Given the description of an element on the screen output the (x, y) to click on. 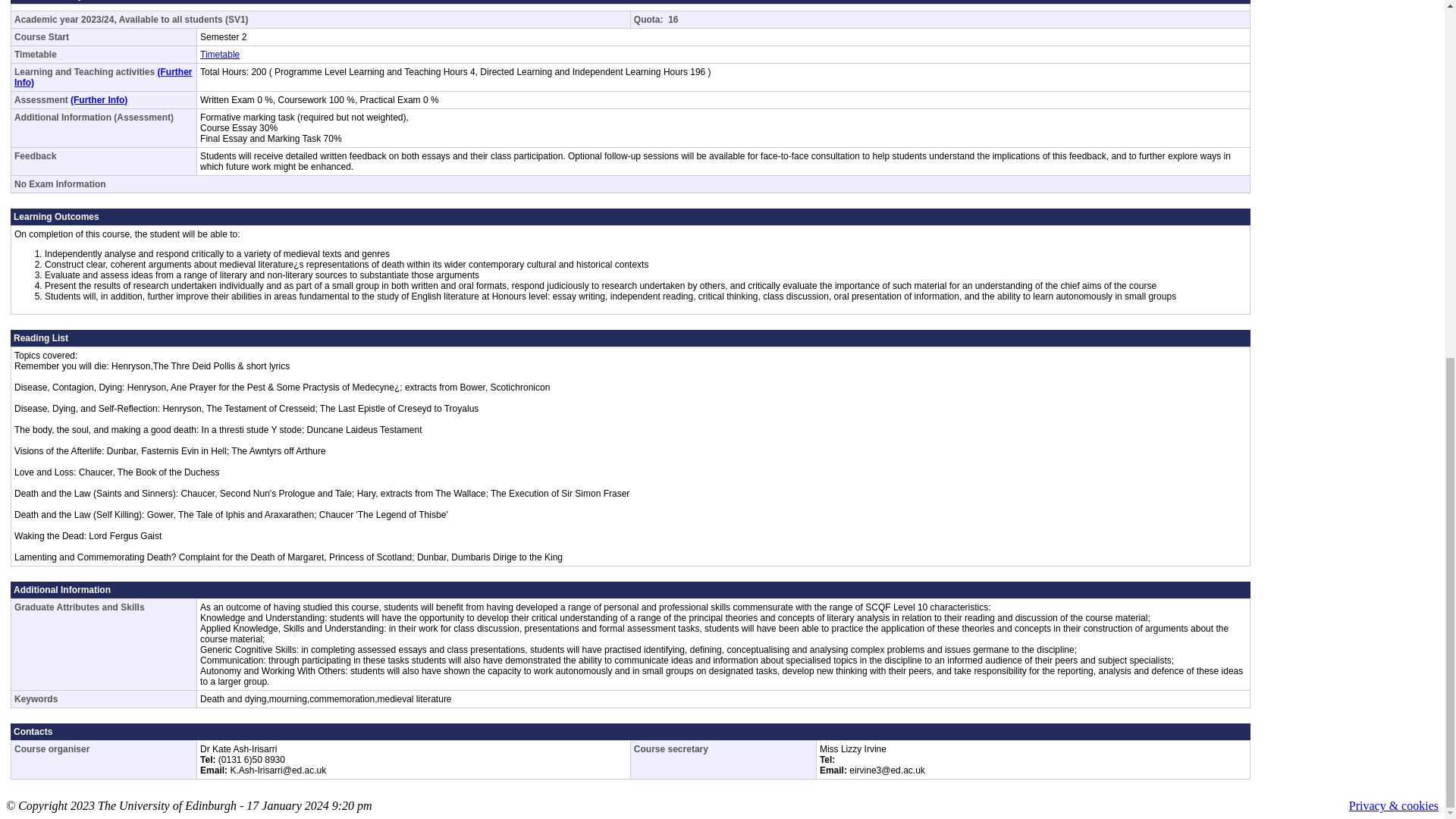
Timetable (220, 54)
